Given the description of an element on the screen output the (x, y) to click on. 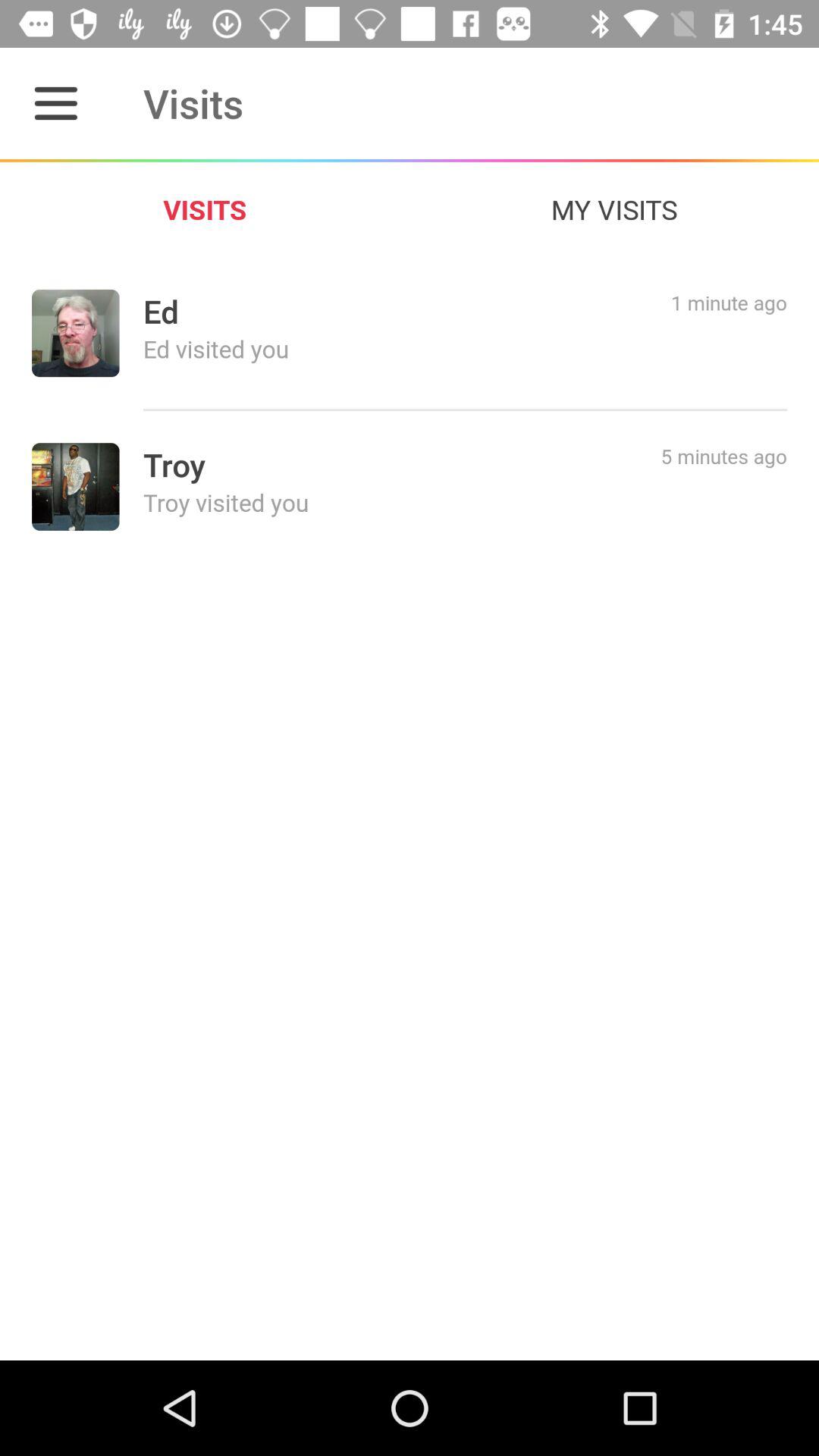
turn off the my visits (614, 209)
